Given the description of an element on the screen output the (x, y) to click on. 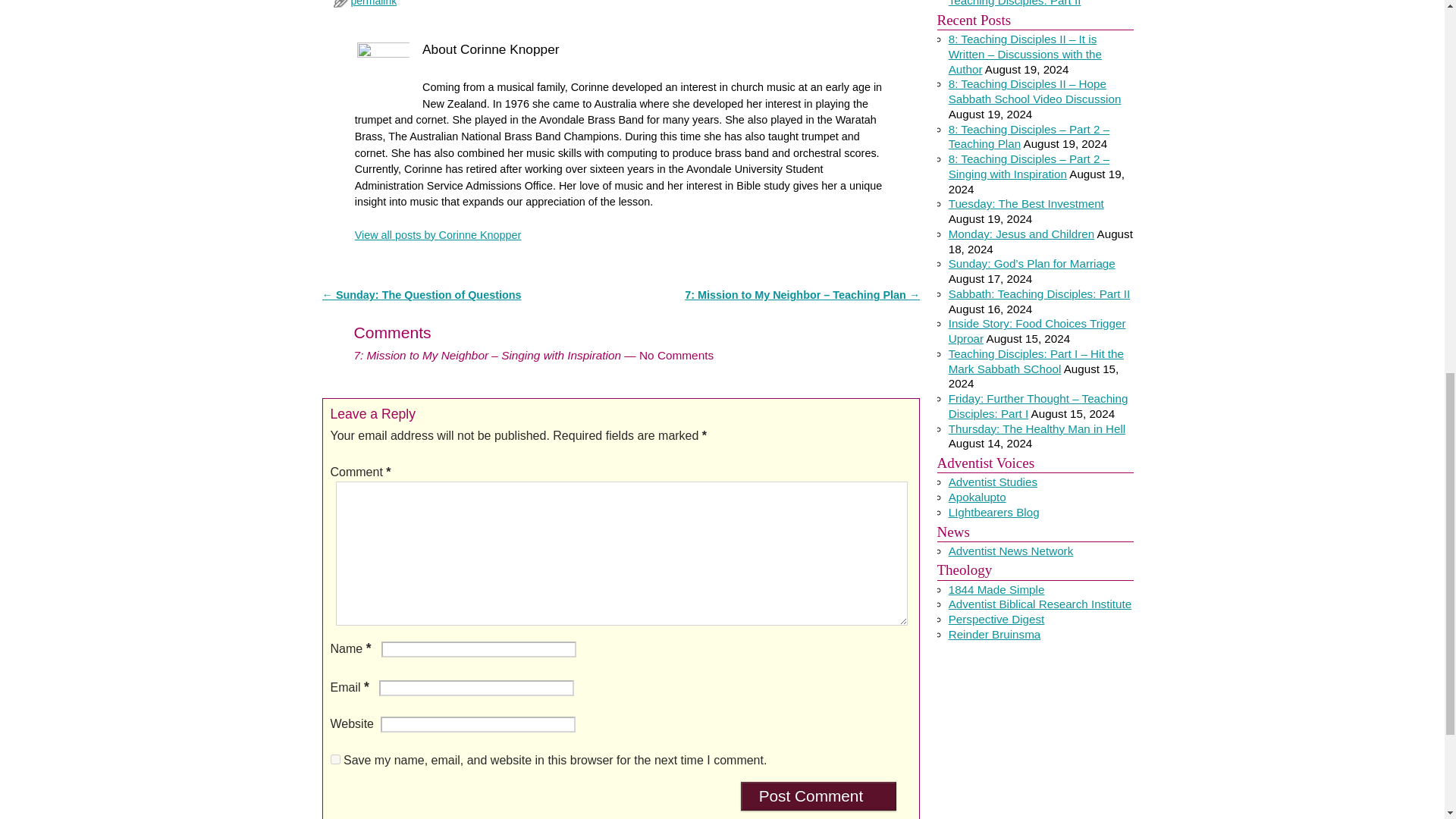
Post Comment (818, 796)
 David Hamstra blog (977, 496)
Publication of Adventist Theological Society (997, 618)
Official Adventist News Network (1011, 550)
by Arthur Patrick of Avondale (992, 481)
yes (335, 759)
